Given the description of an element on the screen output the (x, y) to click on. 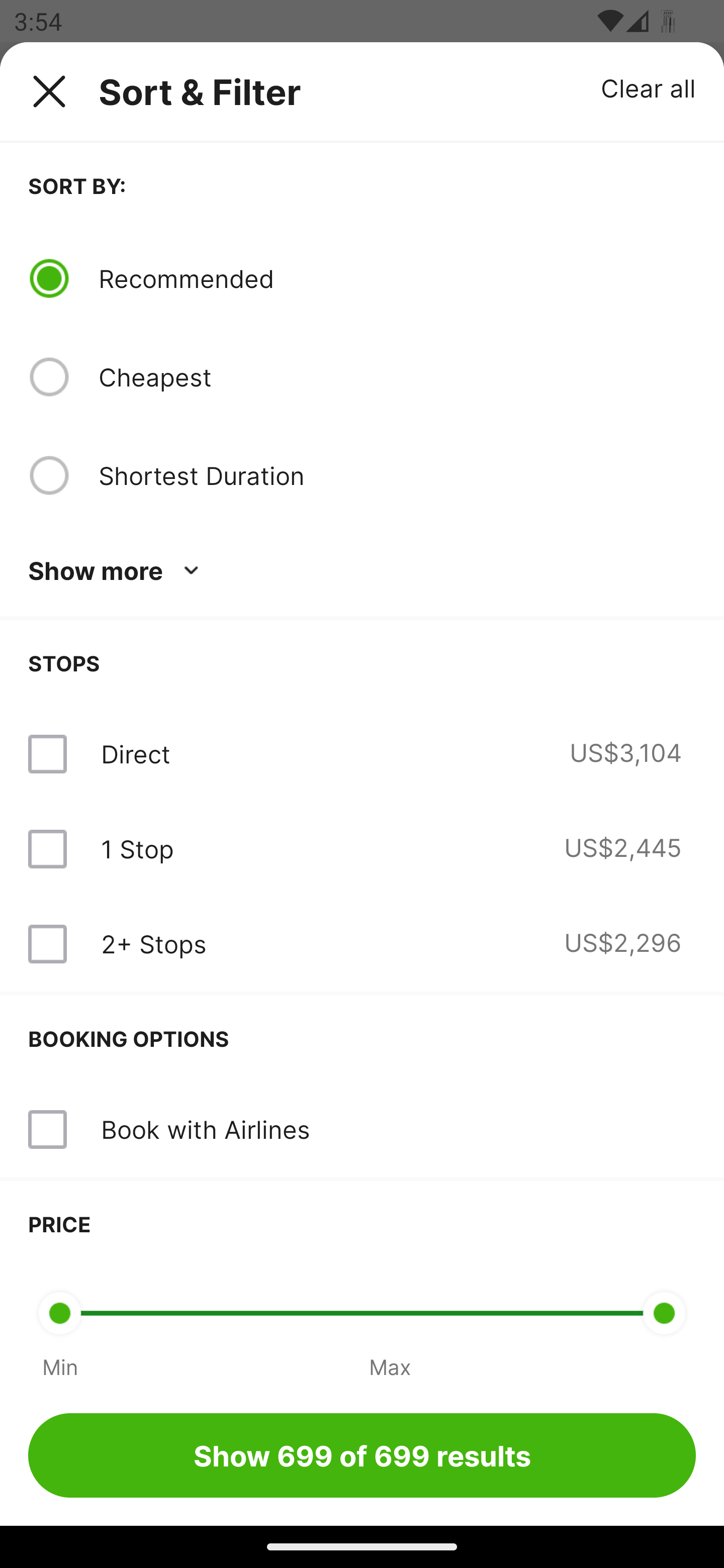
Clear all (648, 87)
Recommended  (396, 278)
Cheapest (396, 377)
Shortest Duration (396, 474)
Show more (116, 570)
Direct US$3,104 (362, 754)
Direct (135, 753)
1 Stop US$2,445 (362, 848)
1 Stop (136, 849)
2+ Stops US$2,296 (362, 943)
2+ Stops (153, 943)
Book with Airlines (362, 1129)
Book with Airlines (204, 1128)
Show 699 of 699 results (361, 1454)
